Given the description of an element on the screen output the (x, y) to click on. 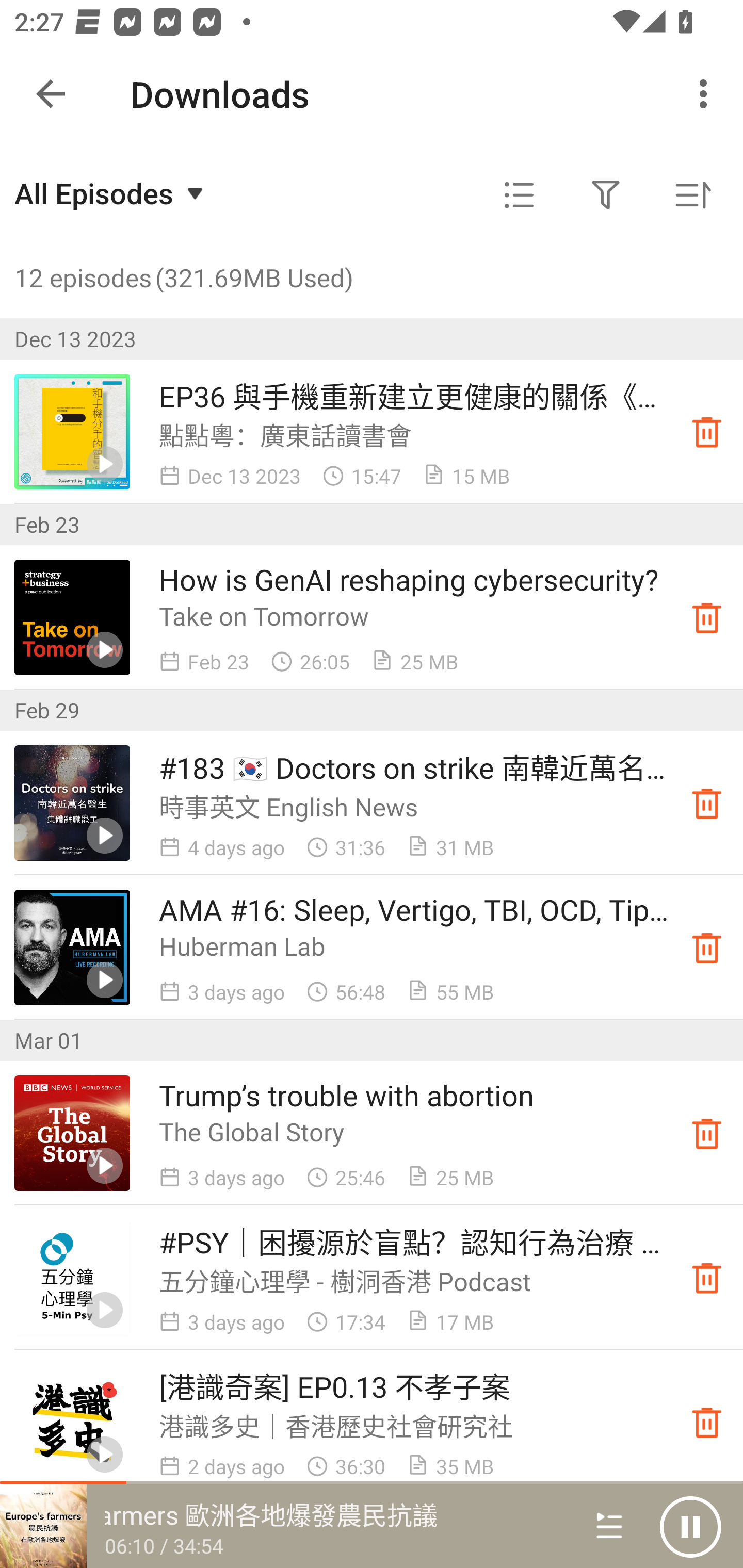
Navigate up (50, 93)
More options (706, 93)
All Episodes (111, 192)
 (518, 195)
 (605, 195)
 Sorted by oldest first (692, 195)
Downloaded (706, 431)
Downloaded (706, 617)
Downloaded (706, 802)
Downloaded (706, 947)
Downloaded (706, 1133)
Downloaded (706, 1277)
Downloaded (706, 1422)
#181 🧑‍🌾 Europe's farmers 歐洲各地爆發農民抗議 06:10 / 34:54 (283, 1525)
Pause (690, 1526)
